Given the description of an element on the screen output the (x, y) to click on. 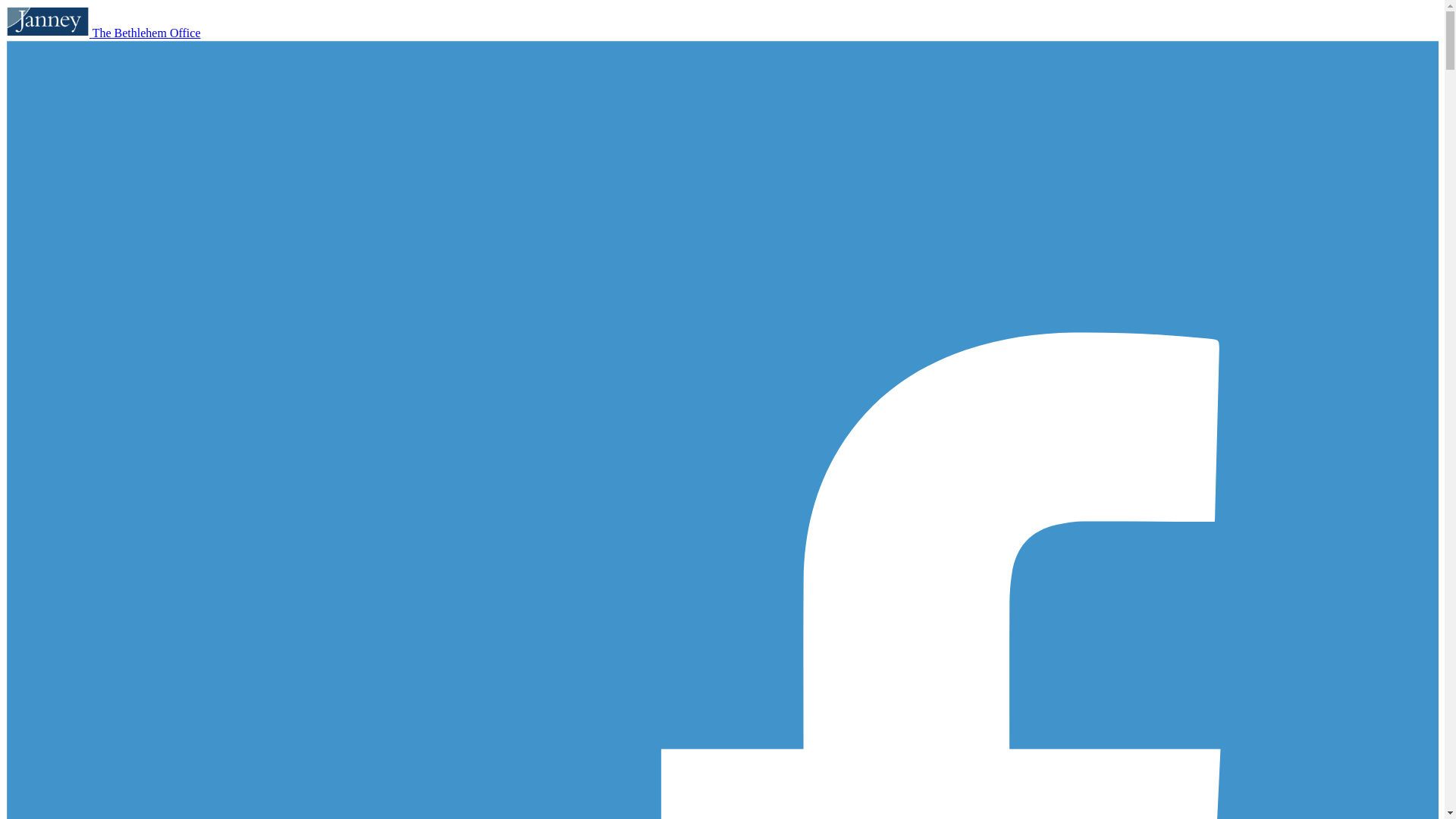
The Bethlehem Office (146, 32)
janney-header-logo (46, 20)
